Given the description of an element on the screen output the (x, y) to click on. 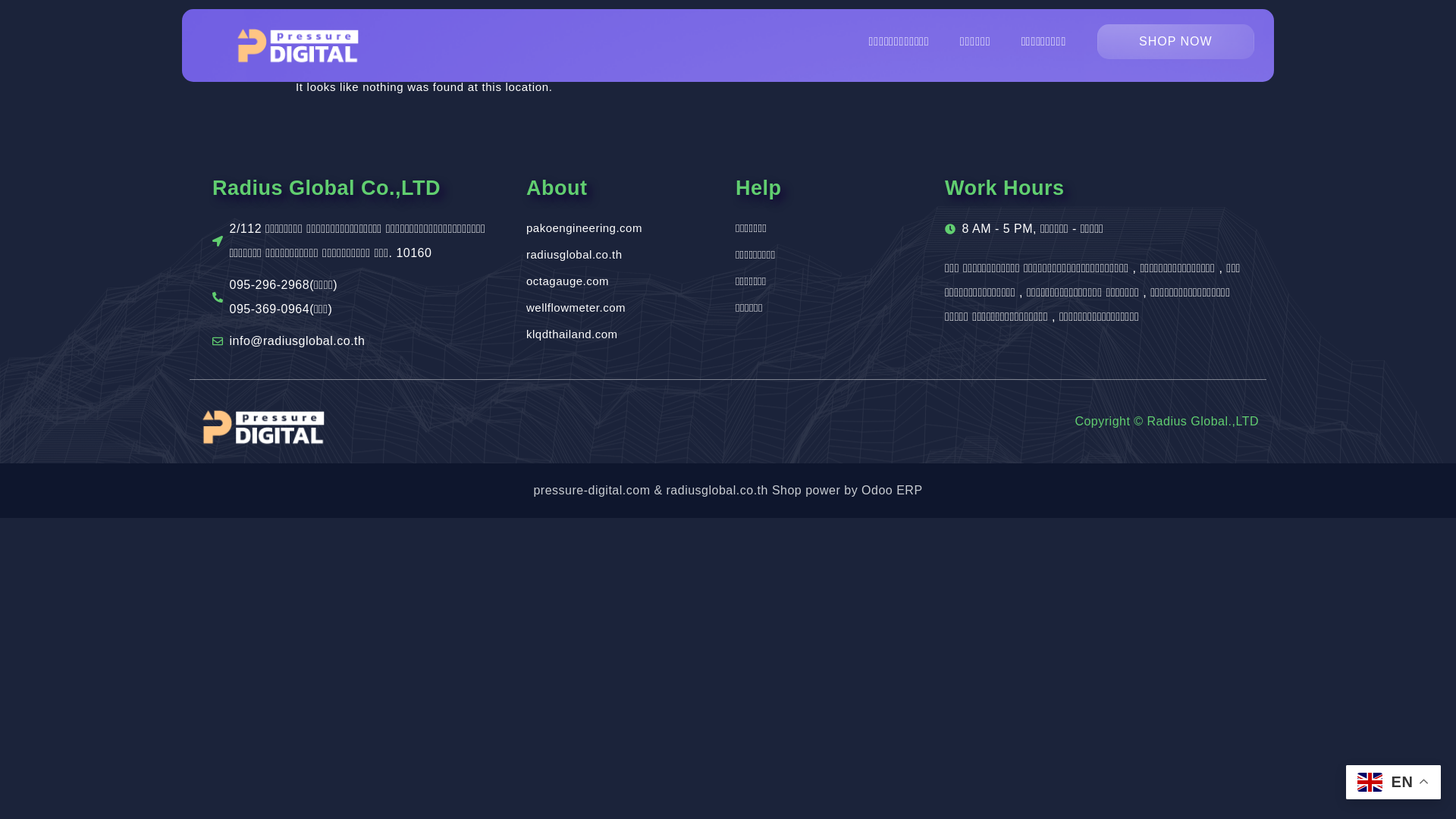
SHOP NOW (1175, 41)
octagauge.com (622, 281)
pakoengineering.com (622, 228)
klqdthailand.com (622, 333)
wellflowmeter.com (622, 307)
radiusglobal.co.th (622, 254)
